Given the description of an element on the screen output the (x, y) to click on. 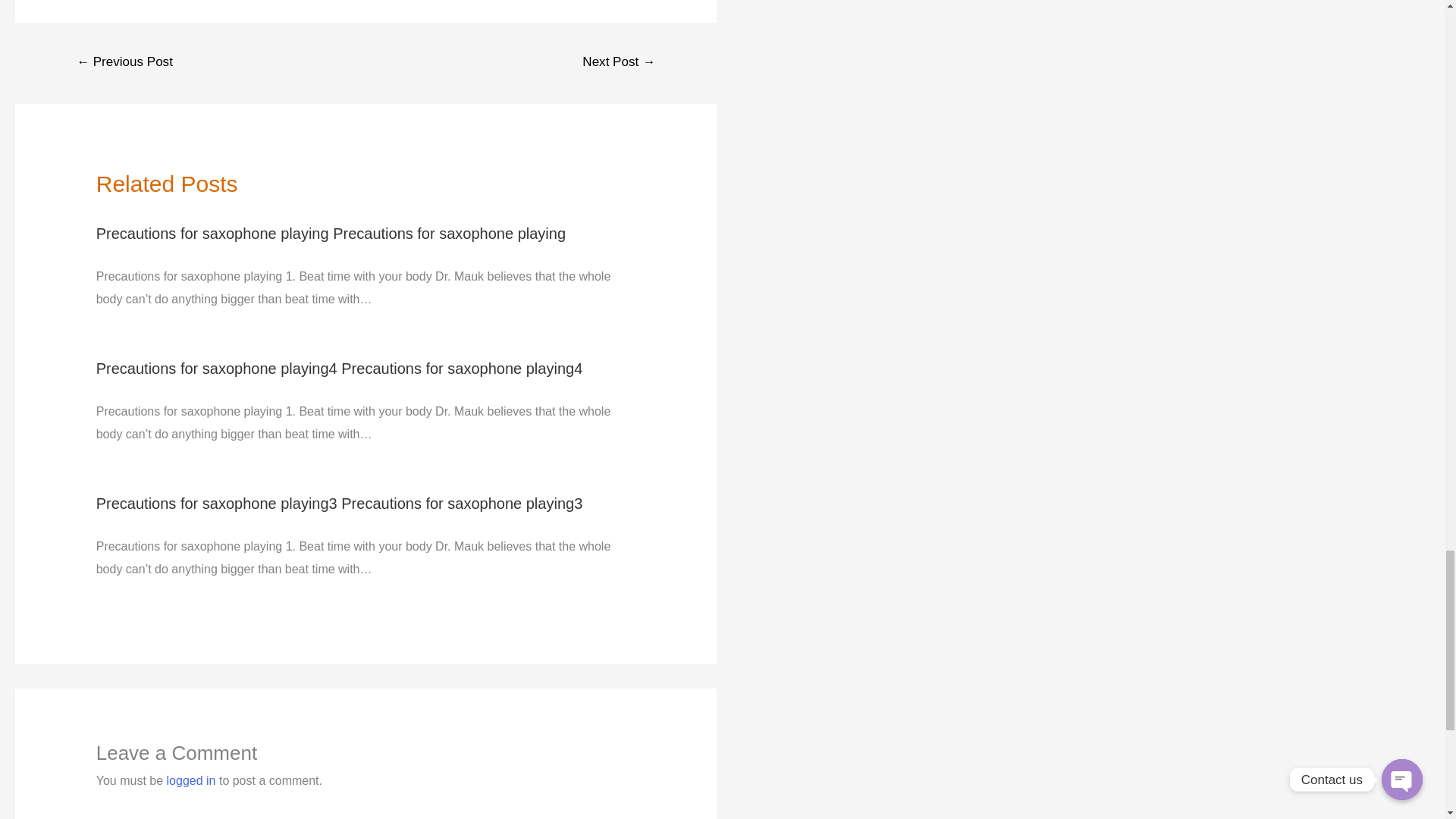
logged in (191, 780)
